Given the description of an element on the screen output the (x, y) to click on. 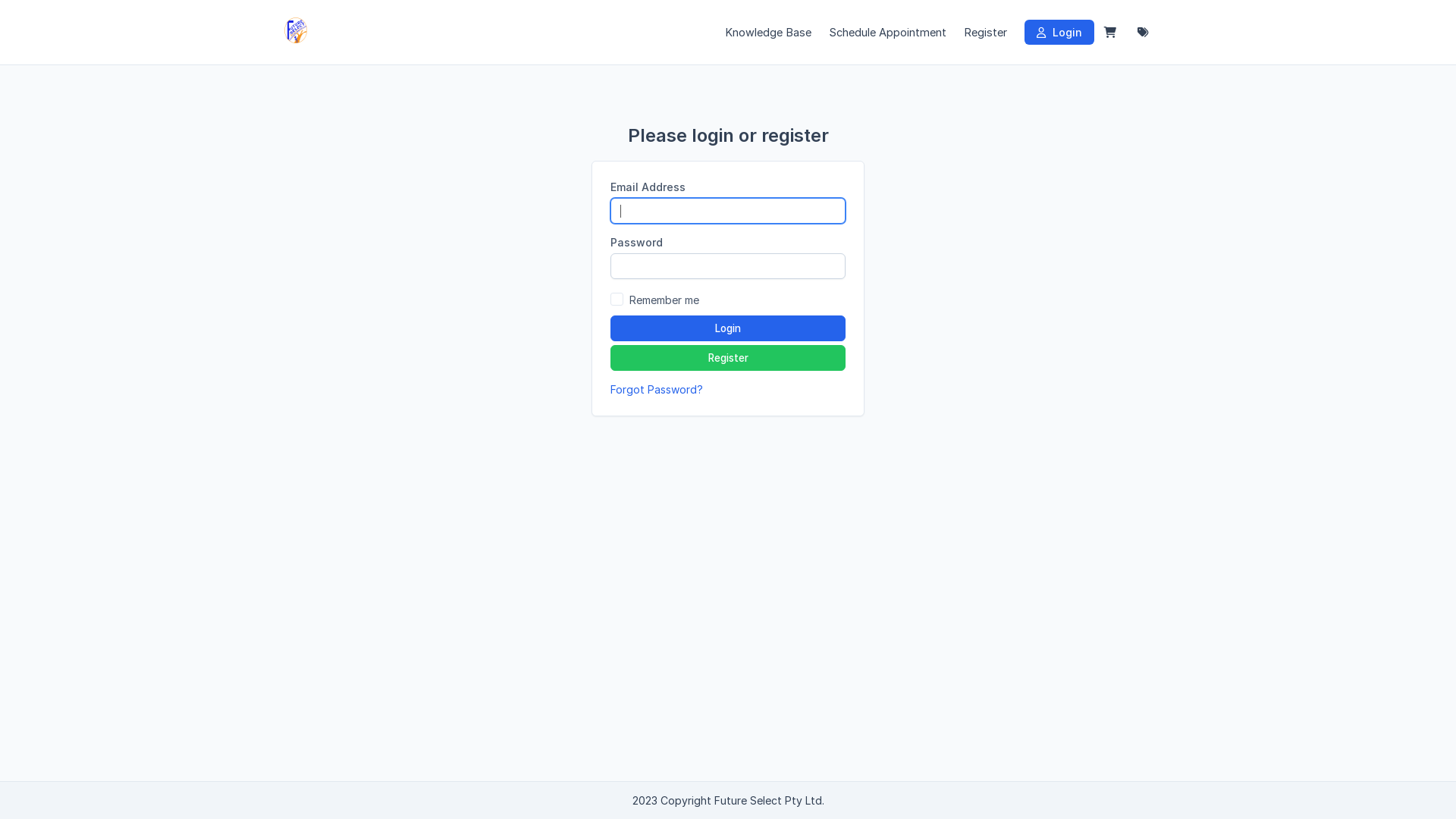
Login Element type: text (727, 328)
Knowledge Base Element type: text (768, 31)
Register Element type: text (985, 31)
Schedule Appointment Element type: text (887, 31)
Register Element type: text (727, 357)
Forgot Password? Element type: text (656, 388)
Login Element type: text (1059, 31)
